Given the description of an element on the screen output the (x, y) to click on. 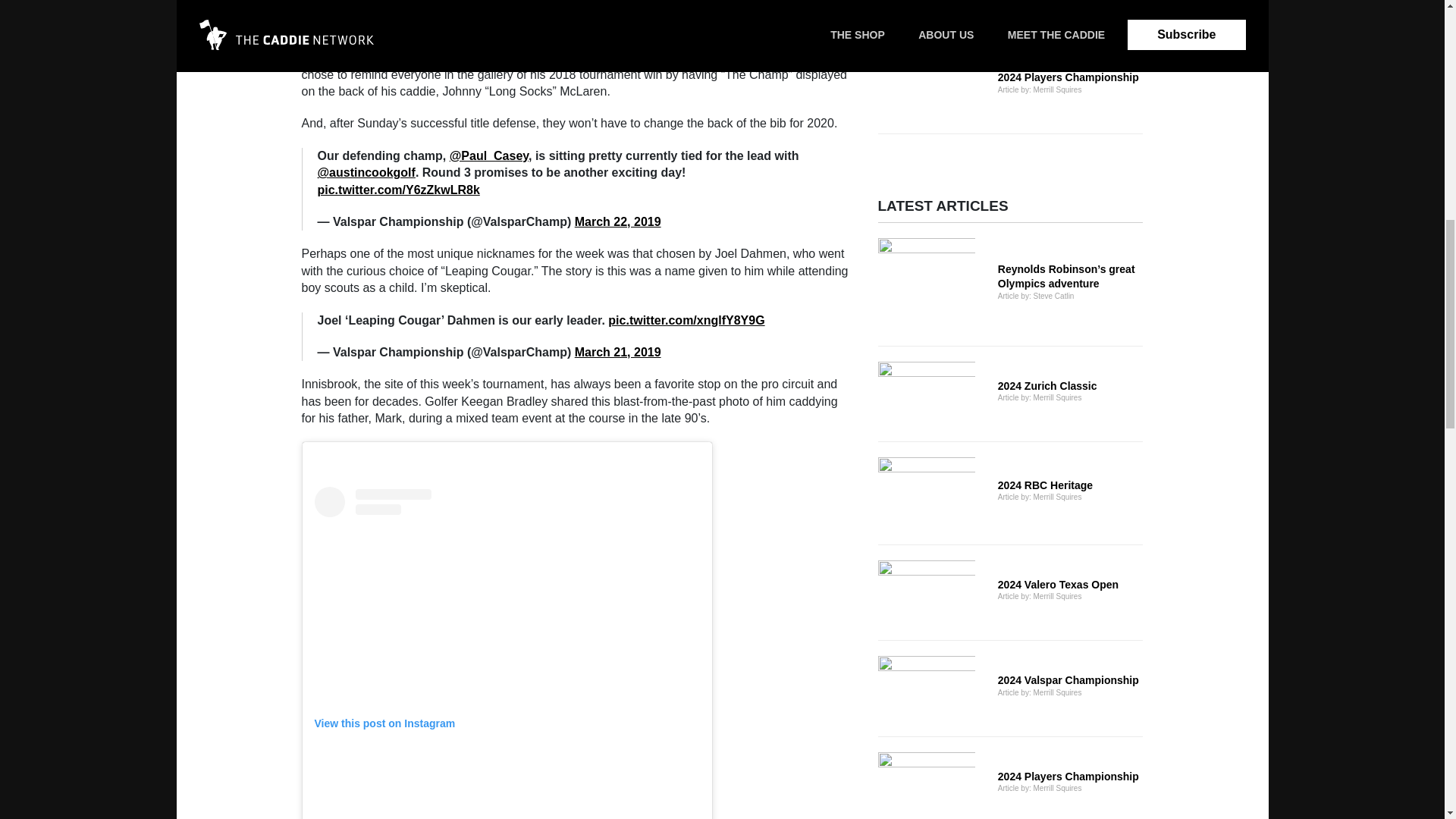
2024 Valspar Championship (1010, 492)
2024 Valero Texas Open (1010, 688)
2024 Players Championship (1010, 592)
2024 Valspar Championship (1010, 85)
March 22, 2019 (1010, 11)
